Given the description of an element on the screen output the (x, y) to click on. 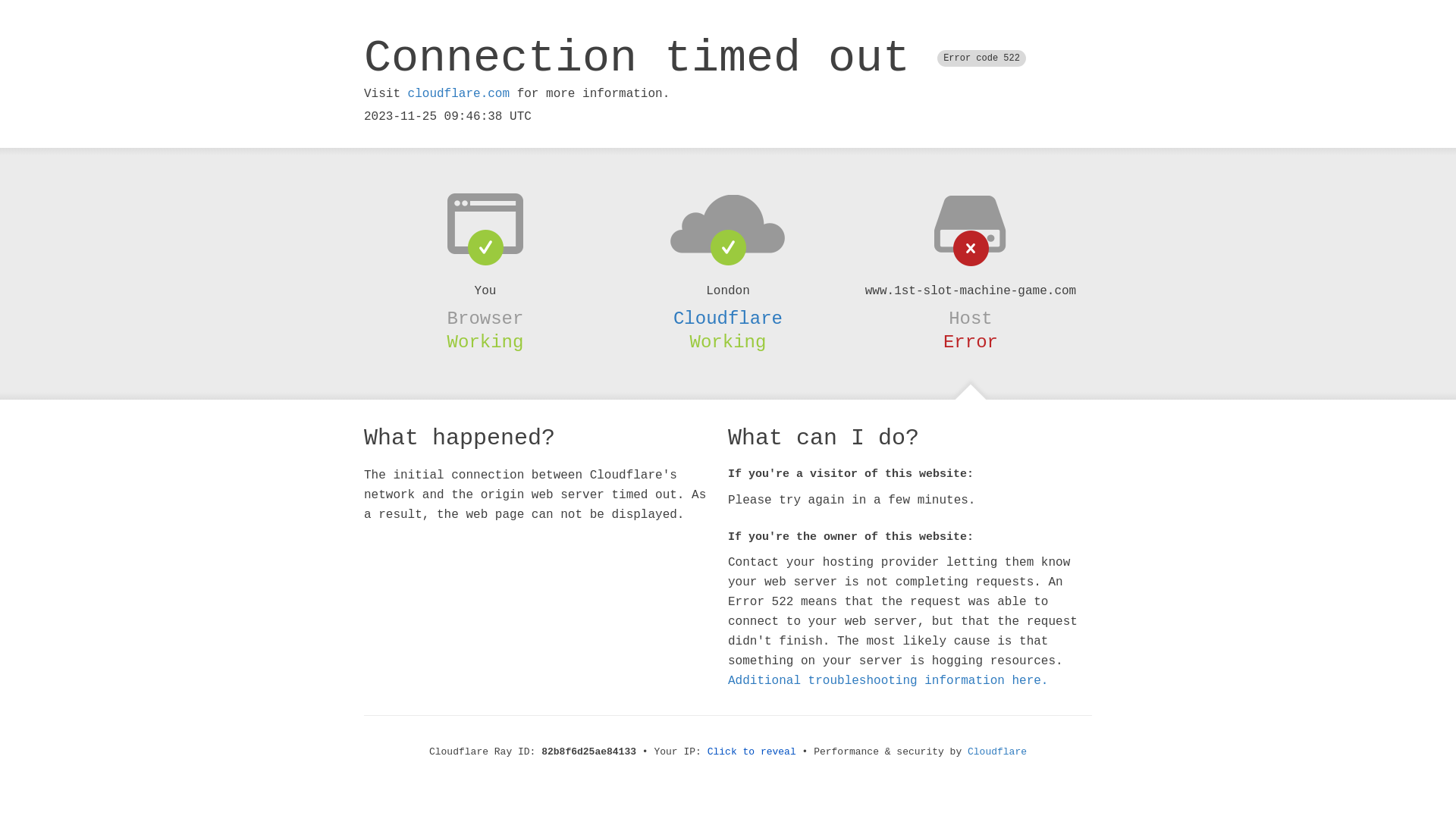
Cloudflare Element type: text (727, 318)
Cloudflare Element type: text (996, 751)
Additional troubleshooting information here. Element type: text (888, 680)
Click to reveal Element type: text (751, 751)
cloudflare.com Element type: text (458, 93)
